Given the description of an element on the screen output the (x, y) to click on. 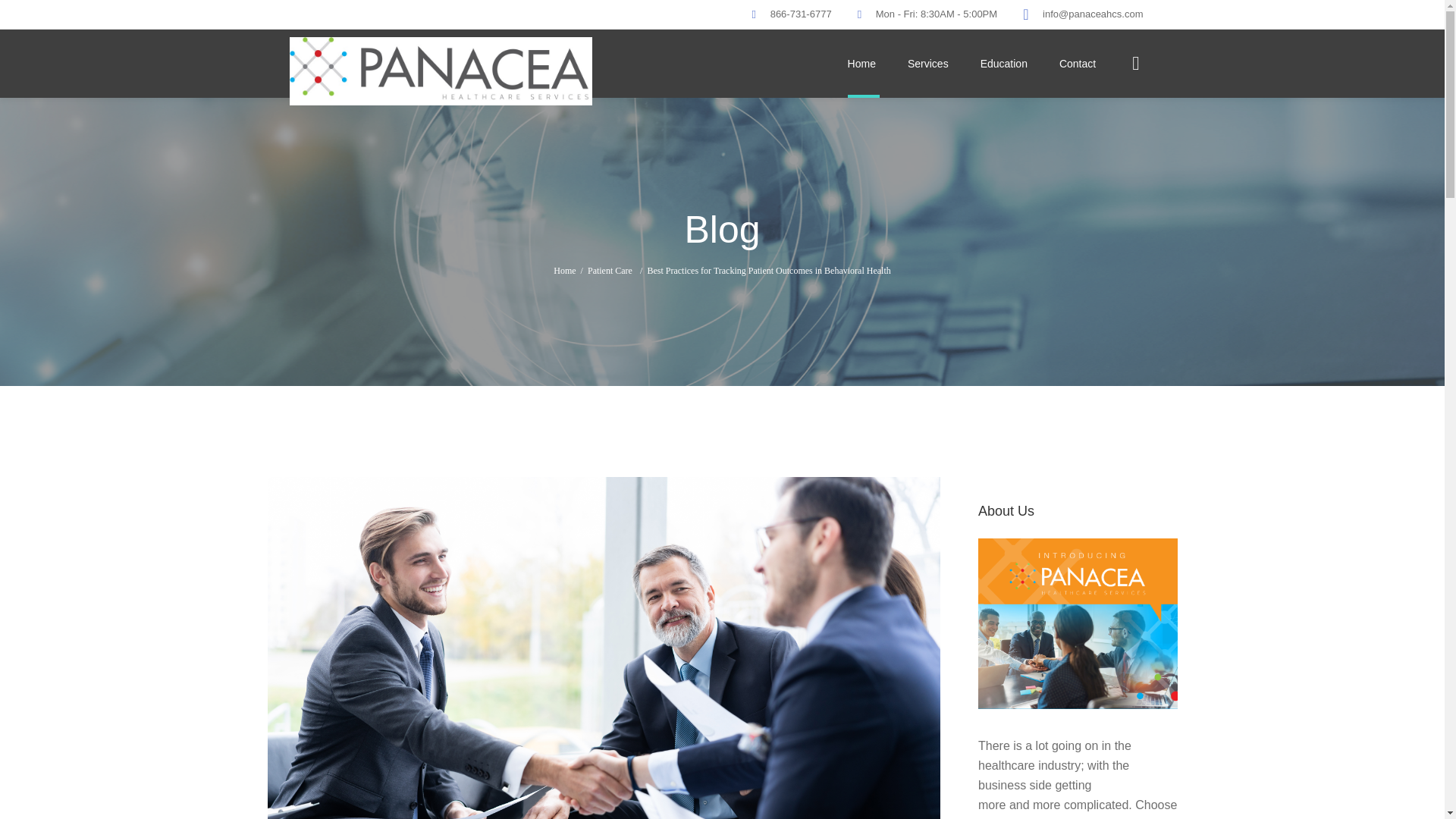
Mon - Fri: 8:30AM - 5:00PM (936, 14)
Contact (1077, 63)
Education (1003, 63)
866-731-6777 (800, 14)
Services (927, 63)
